Given the description of an element on the screen output the (x, y) to click on. 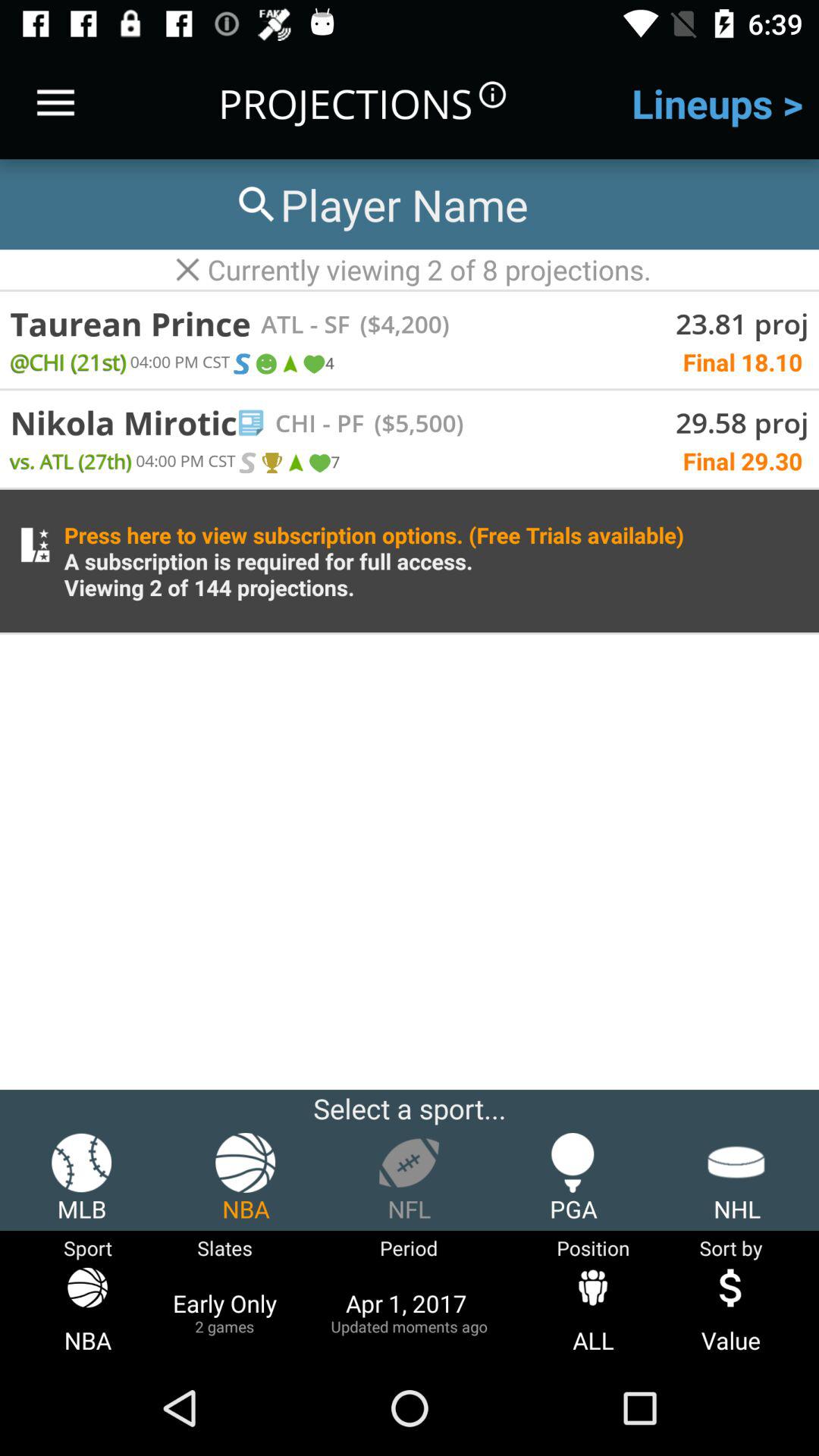
click icon above nikola mirotic item (241, 363)
